Given the description of an element on the screen output the (x, y) to click on. 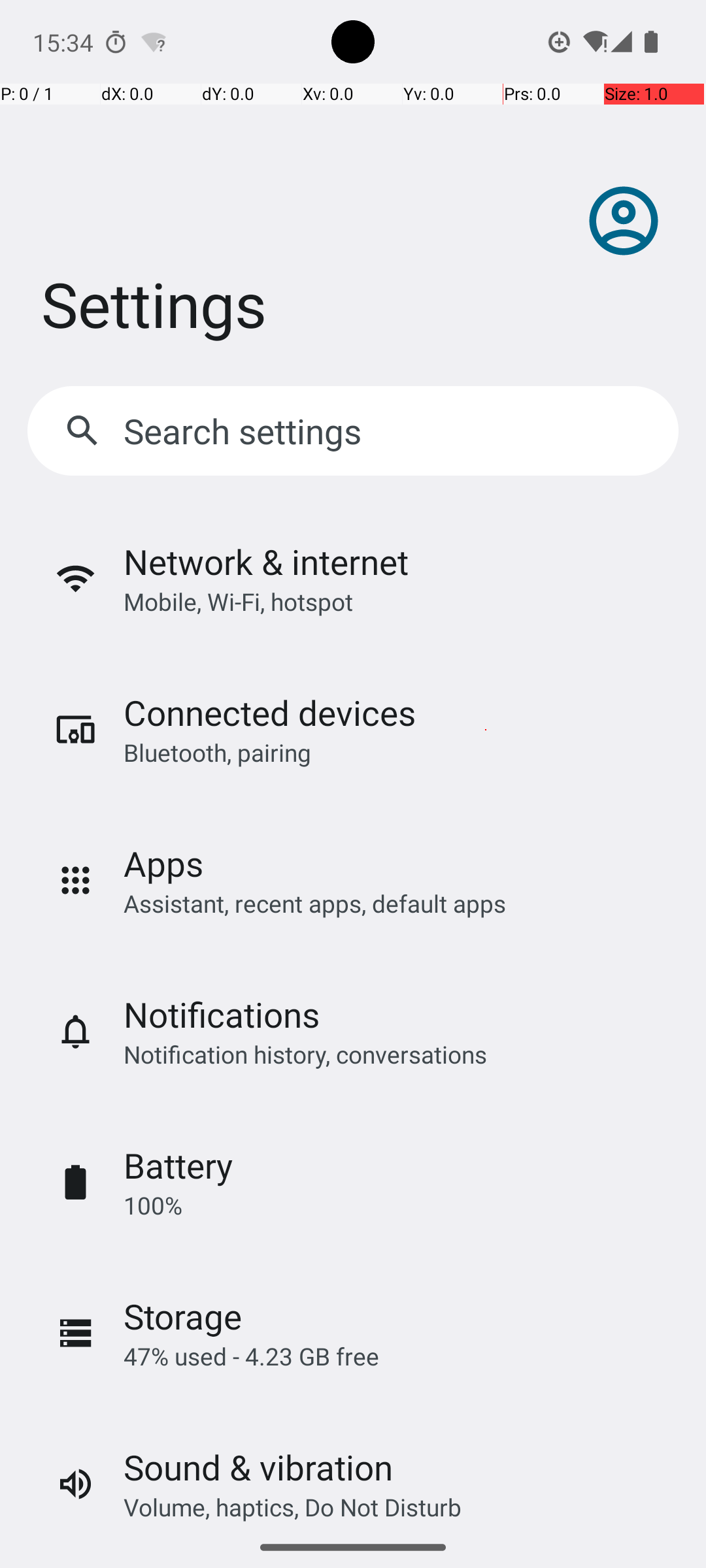
47% used - 4.23 GB free Element type: android.widget.TextView (251, 1355)
